Given the description of an element on the screen output the (x, y) to click on. 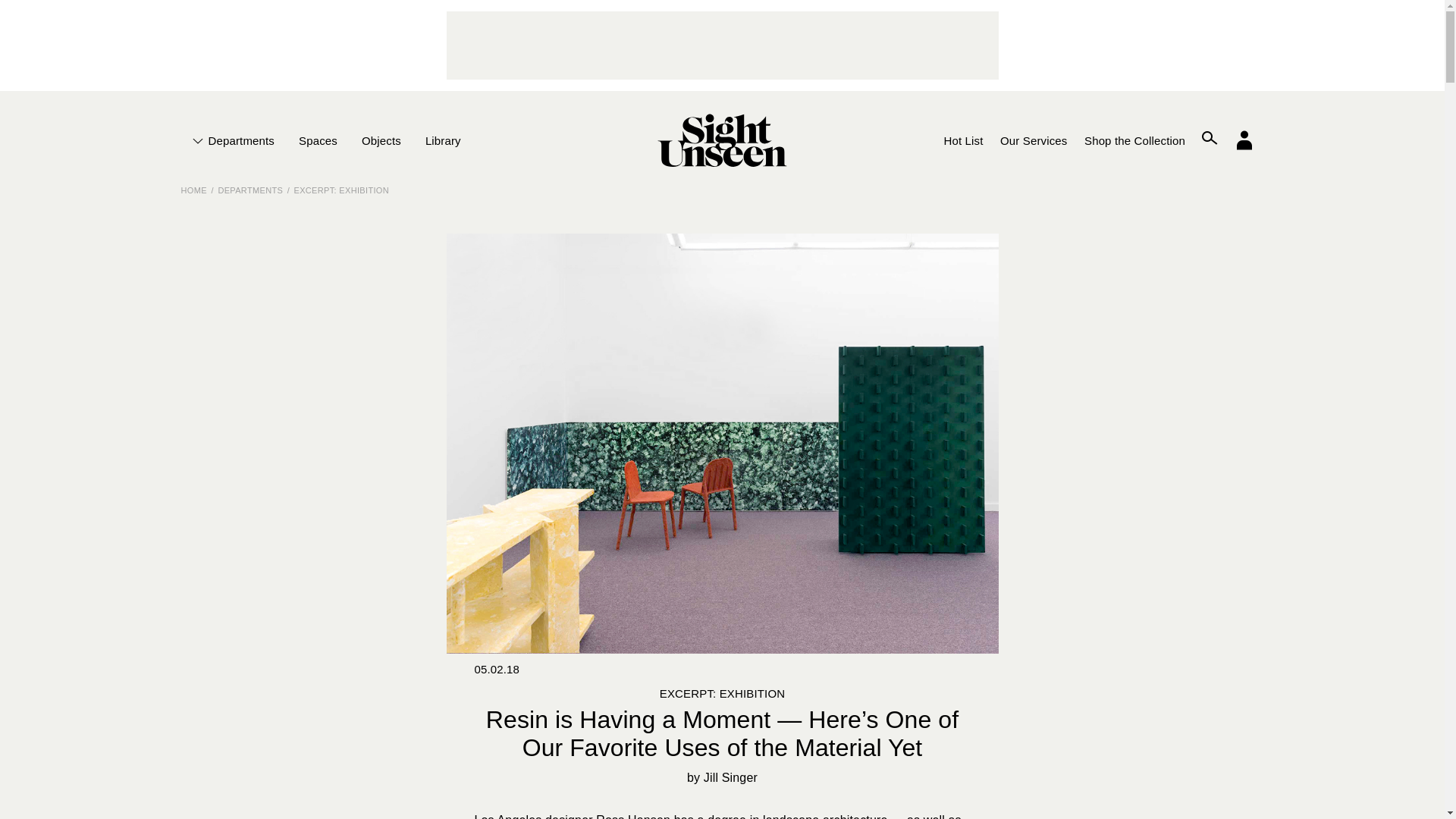
Departments (238, 139)
Shop the Collection (1134, 140)
Our Services (1033, 140)
Library (443, 139)
Hot List (962, 140)
Objects (381, 139)
Posts by Jill Singer (730, 777)
Spaces (317, 139)
